Given the description of an element on the screen output the (x, y) to click on. 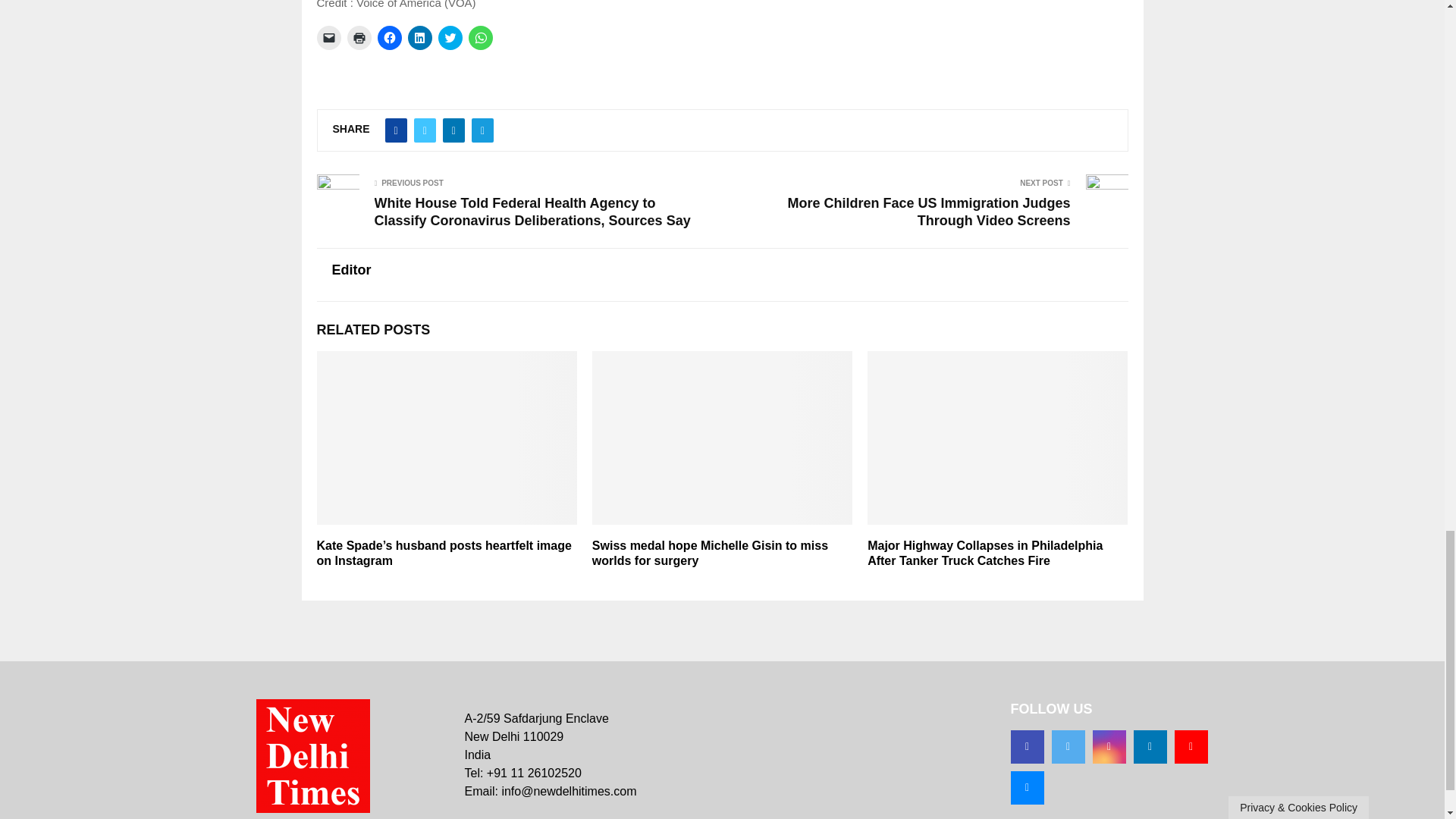
Click to share on LinkedIn (419, 37)
Click to share on Facebook (389, 37)
Click to print (359, 37)
Click to email a link to a friend (328, 37)
